Given the description of an element on the screen output the (x, y) to click on. 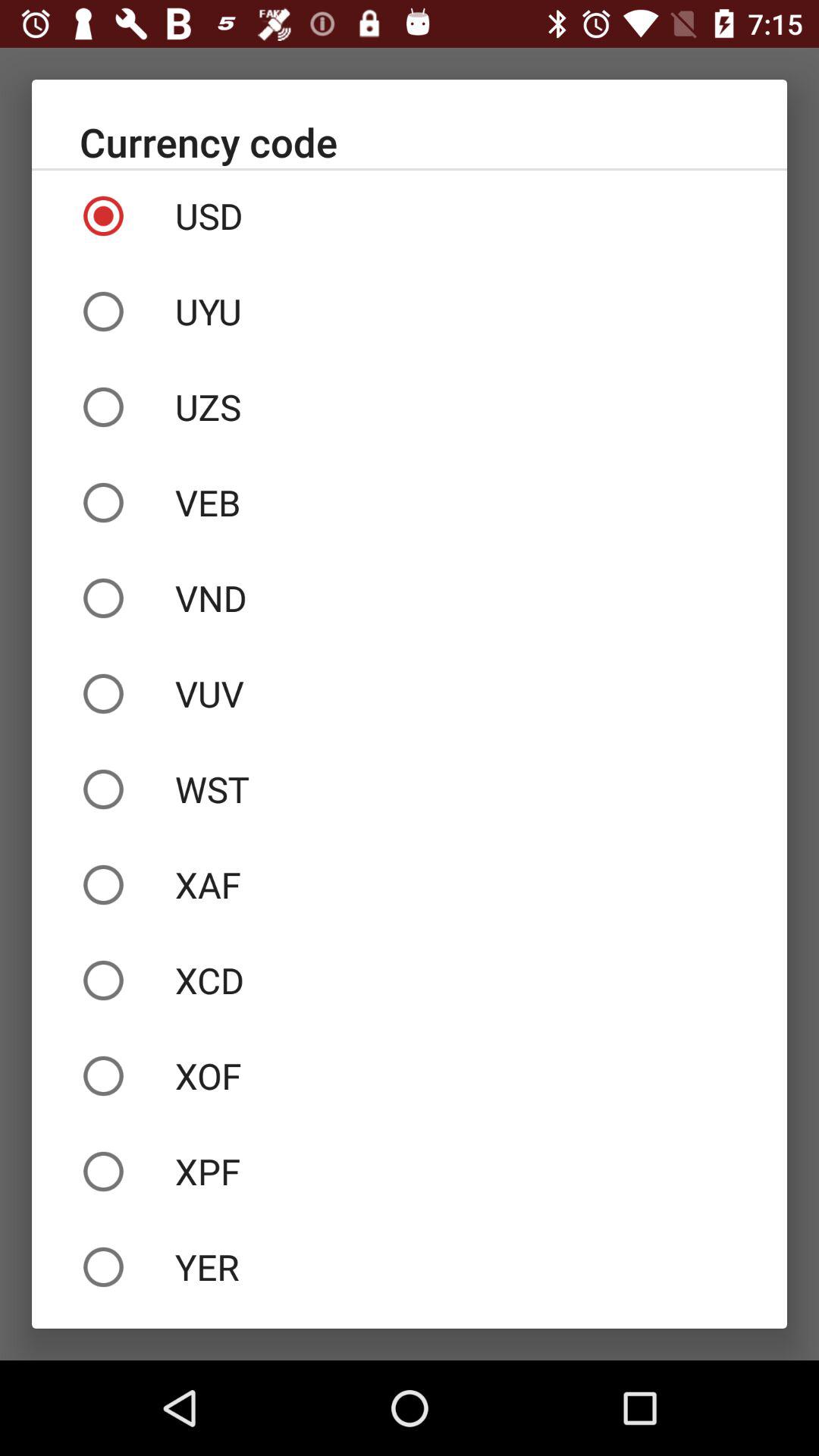
scroll to the xpf icon (409, 1171)
